Given the description of an element on the screen output the (x, y) to click on. 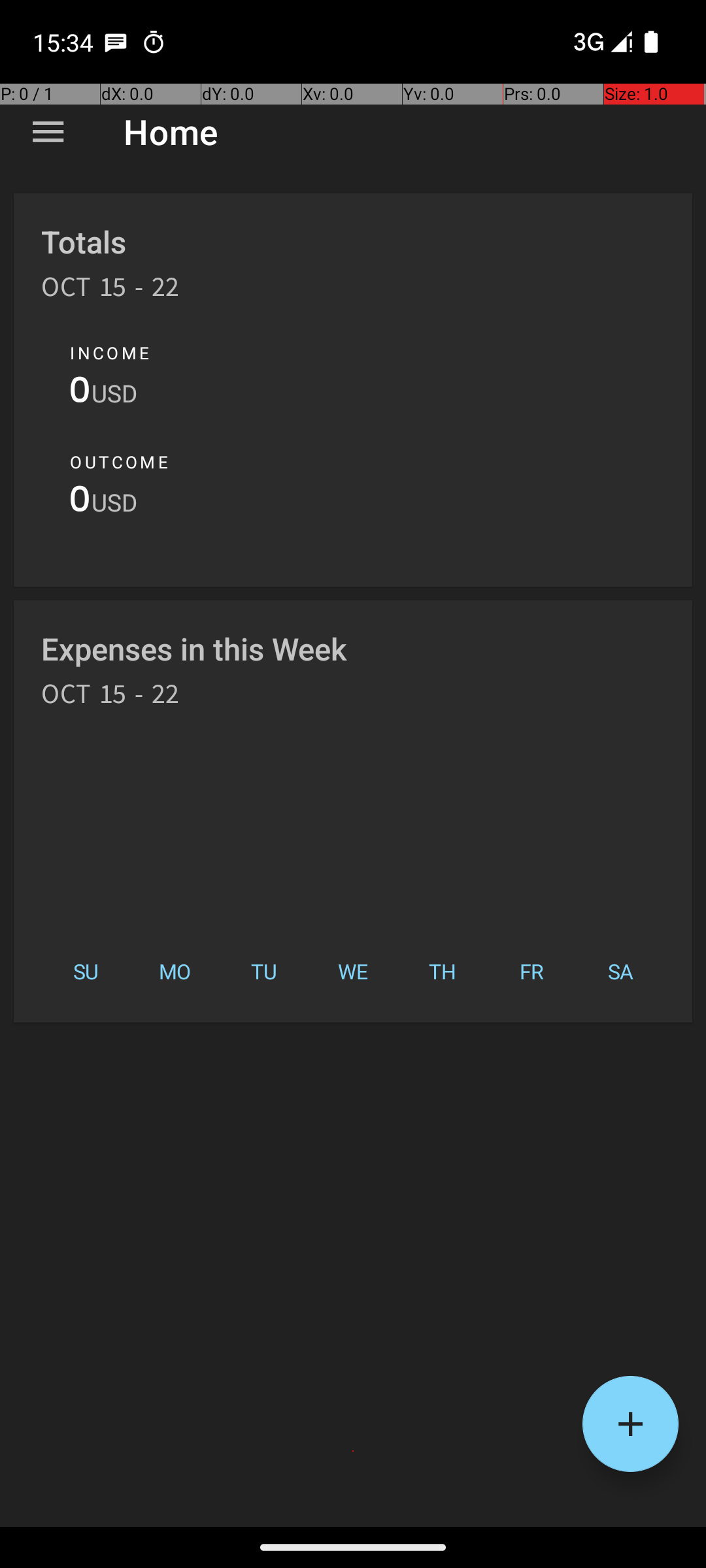
SMS Messenger notification: Amir dos Santos Element type: android.widget.ImageView (115, 41)
